Given the description of an element on the screen output the (x, y) to click on. 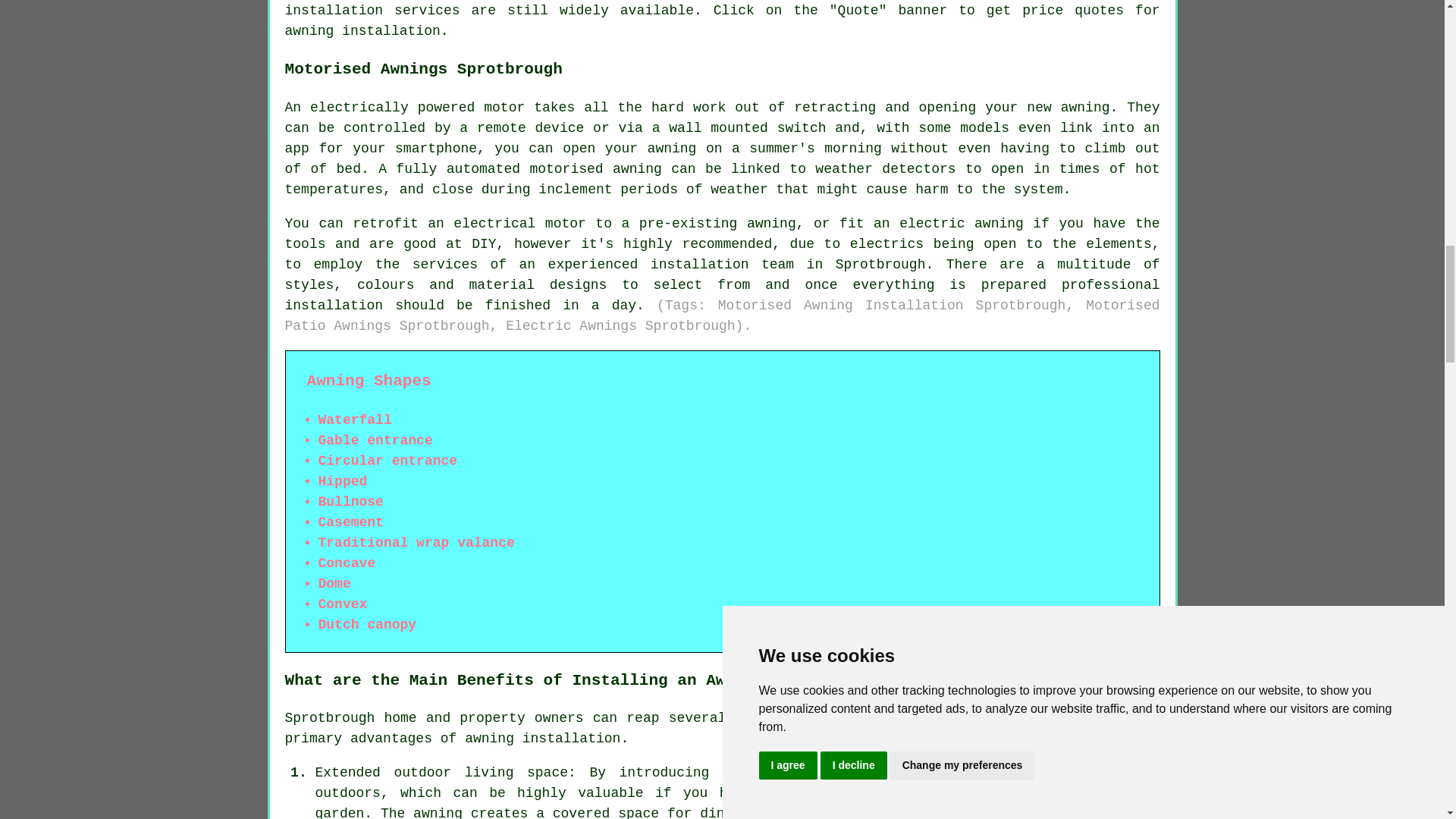
awning (1085, 107)
awning (309, 30)
awning installation (542, 738)
